Given the description of an element on the screen output the (x, y) to click on. 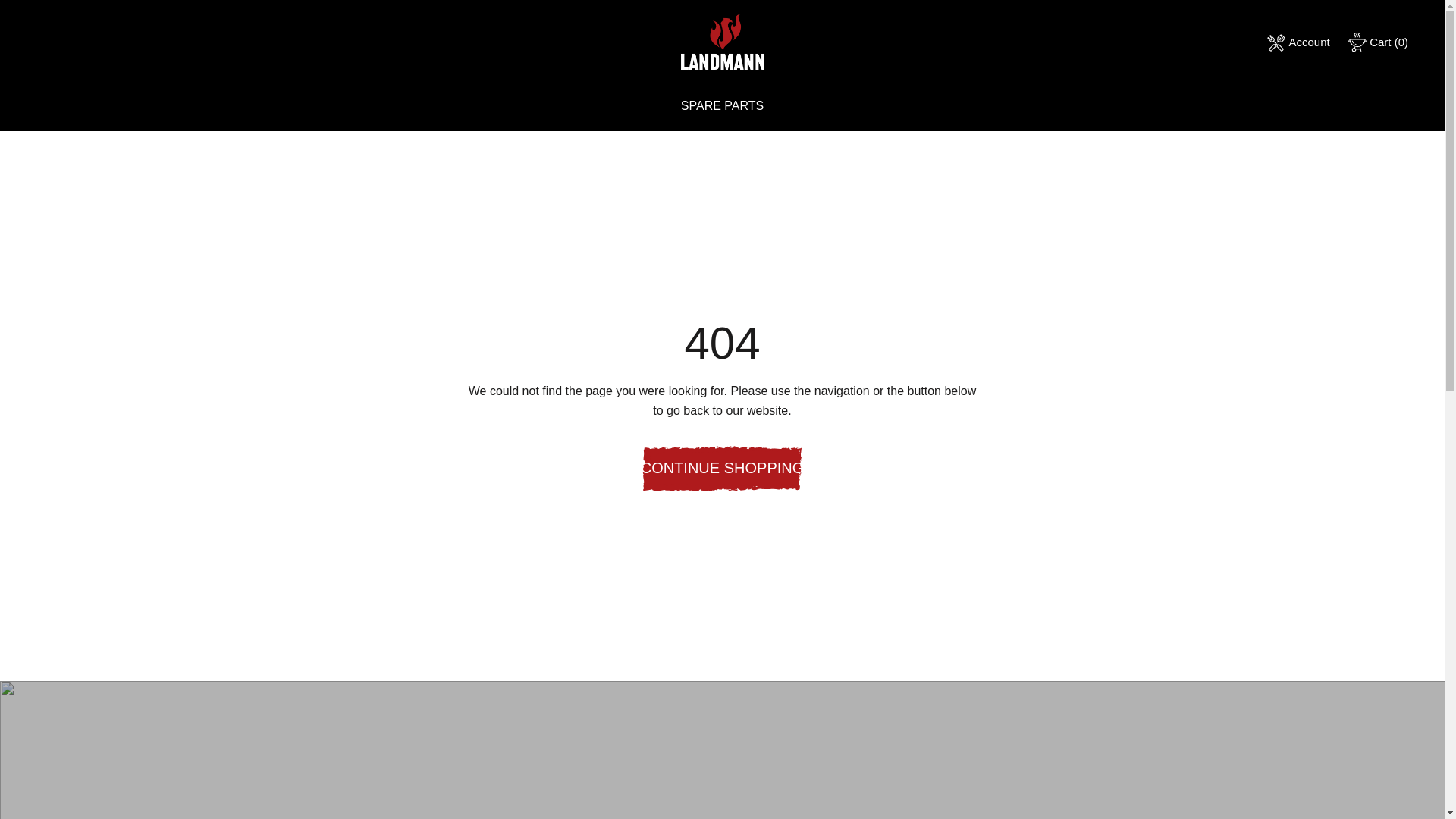
CONTINUE SHOPPING (1298, 41)
LANDMANN (722, 468)
